Given the description of an element on the screen output the (x, y) to click on. 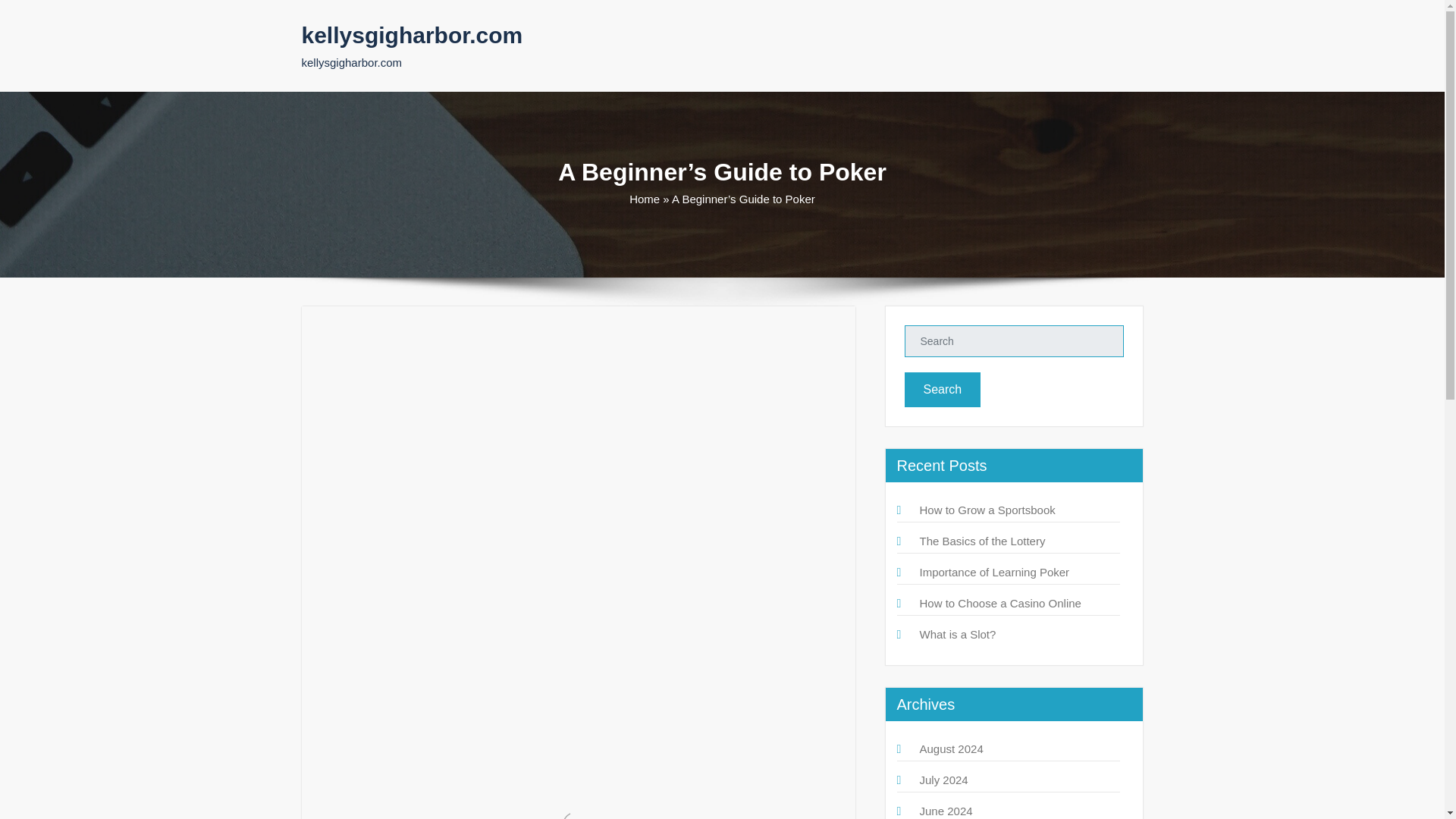
What is a Slot? (956, 634)
August 2024 (950, 748)
kellysgigharbor (376, 379)
How to Grow a Sportsbook (986, 509)
How to Choose a Casino Online (999, 603)
Uncategorized (484, 379)
Search (941, 389)
kellysgigharbor.com (411, 34)
Home (643, 198)
July 2024 (943, 779)
